Given the description of an element on the screen output the (x, y) to click on. 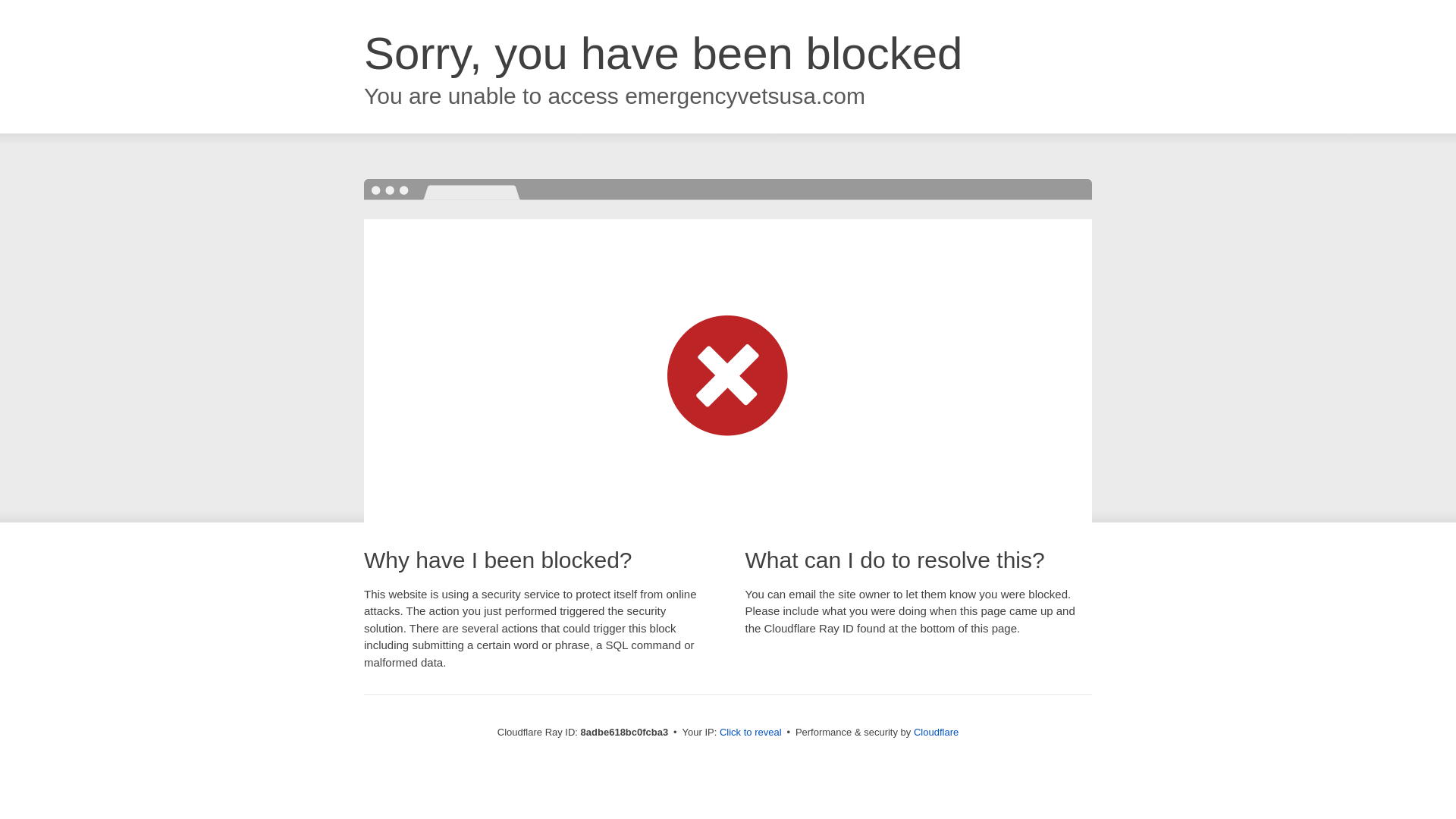
Cloudflare (936, 731)
Click to reveal (750, 732)
